Given the description of an element on the screen output the (x, y) to click on. 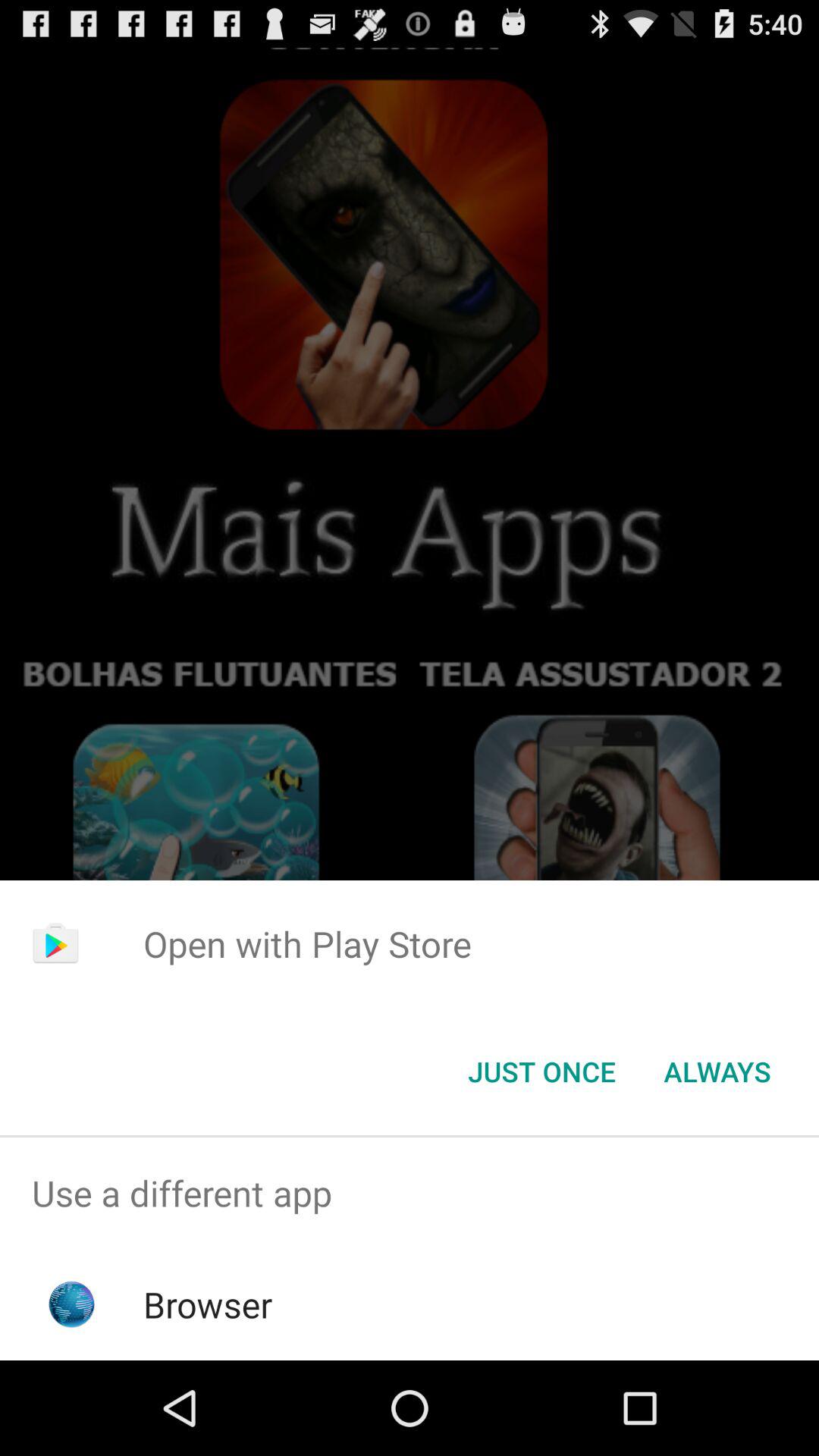
open item above the browser (409, 1192)
